Given the description of an element on the screen output the (x, y) to click on. 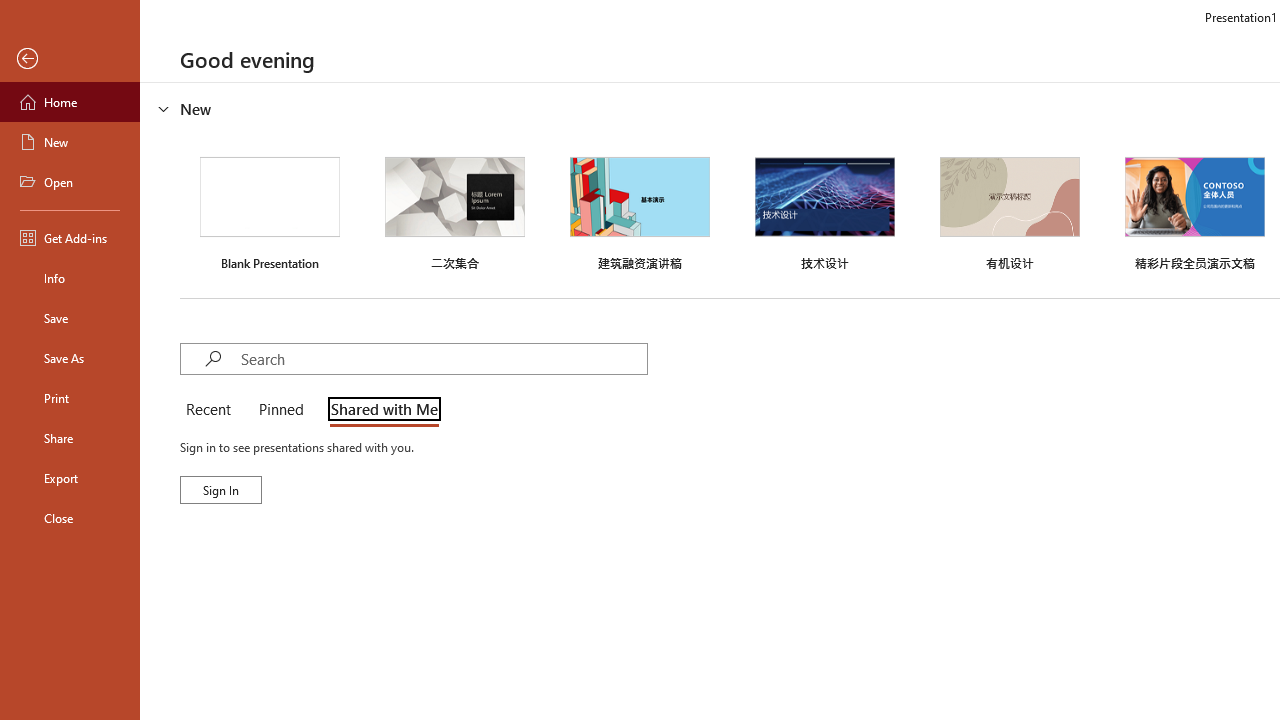
New (69, 141)
Info (69, 277)
Shared with Me (379, 410)
Hide or show region (164, 108)
Save As (69, 357)
Blank Presentation (269, 211)
Export (69, 477)
Recent (212, 410)
